Given the description of an element on the screen output the (x, y) to click on. 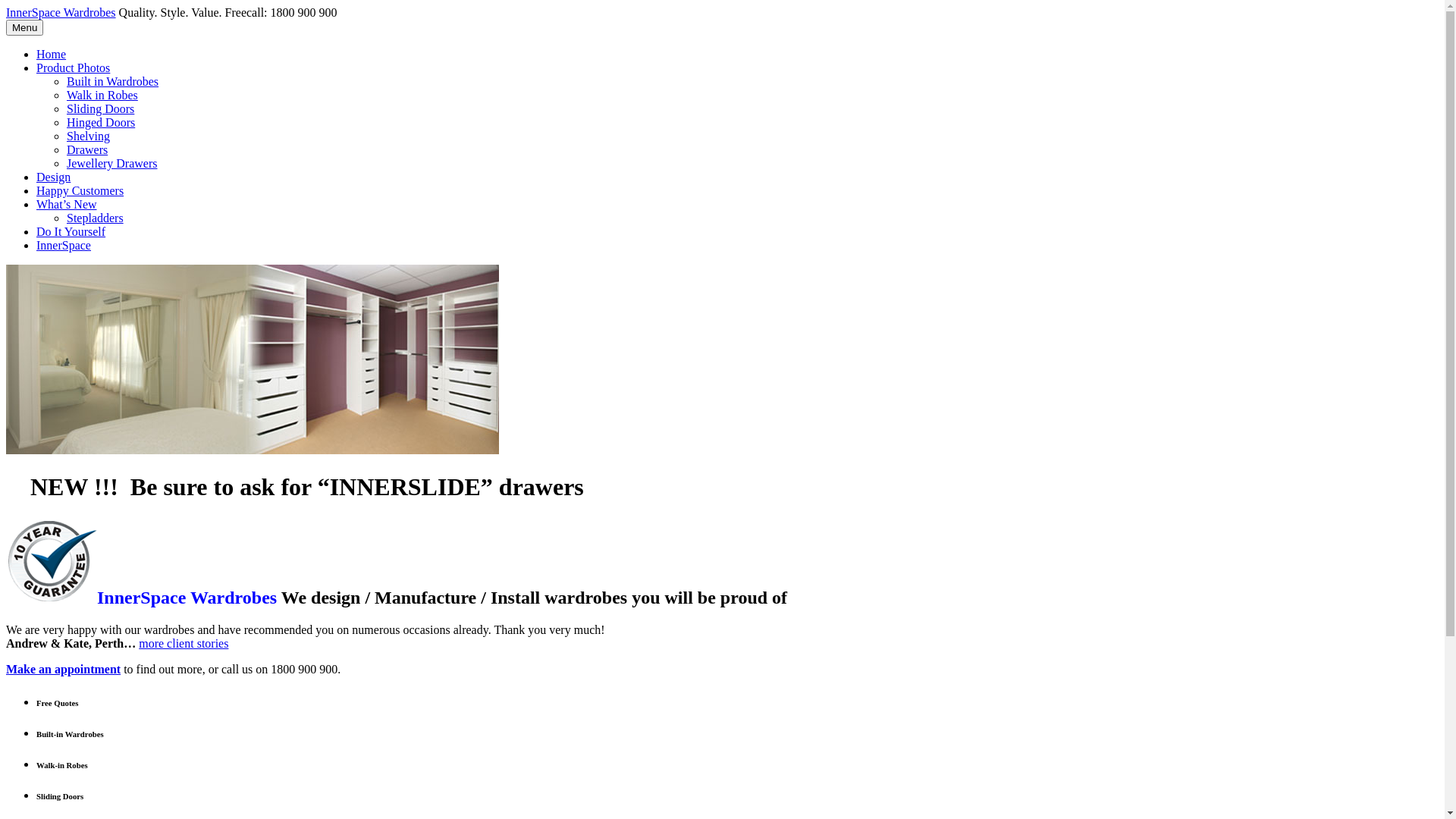
Happy Customers Element type: text (79, 190)
Shelving Element type: text (87, 135)
Make an appointment Element type: text (63, 668)
Design Element type: text (53, 176)
Drawers Element type: text (86, 149)
Home Element type: text (50, 53)
Do It Yourself Element type: text (70, 231)
InnerSpace Element type: text (63, 244)
Hinged Doors Element type: text (100, 122)
Menu Element type: text (24, 27)
more client stories Element type: text (183, 643)
Walk in Robes Element type: text (102, 94)
Product Photos Element type: text (72, 67)
Built in Wardrobes Element type: text (112, 81)
Jewellery Drawers Element type: text (111, 162)
InnerSpace Wardrobes Element type: text (61, 12)
Sliding Doors Element type: text (100, 108)
Stepladders Element type: text (94, 217)
